Given the description of an element on the screen output the (x, y) to click on. 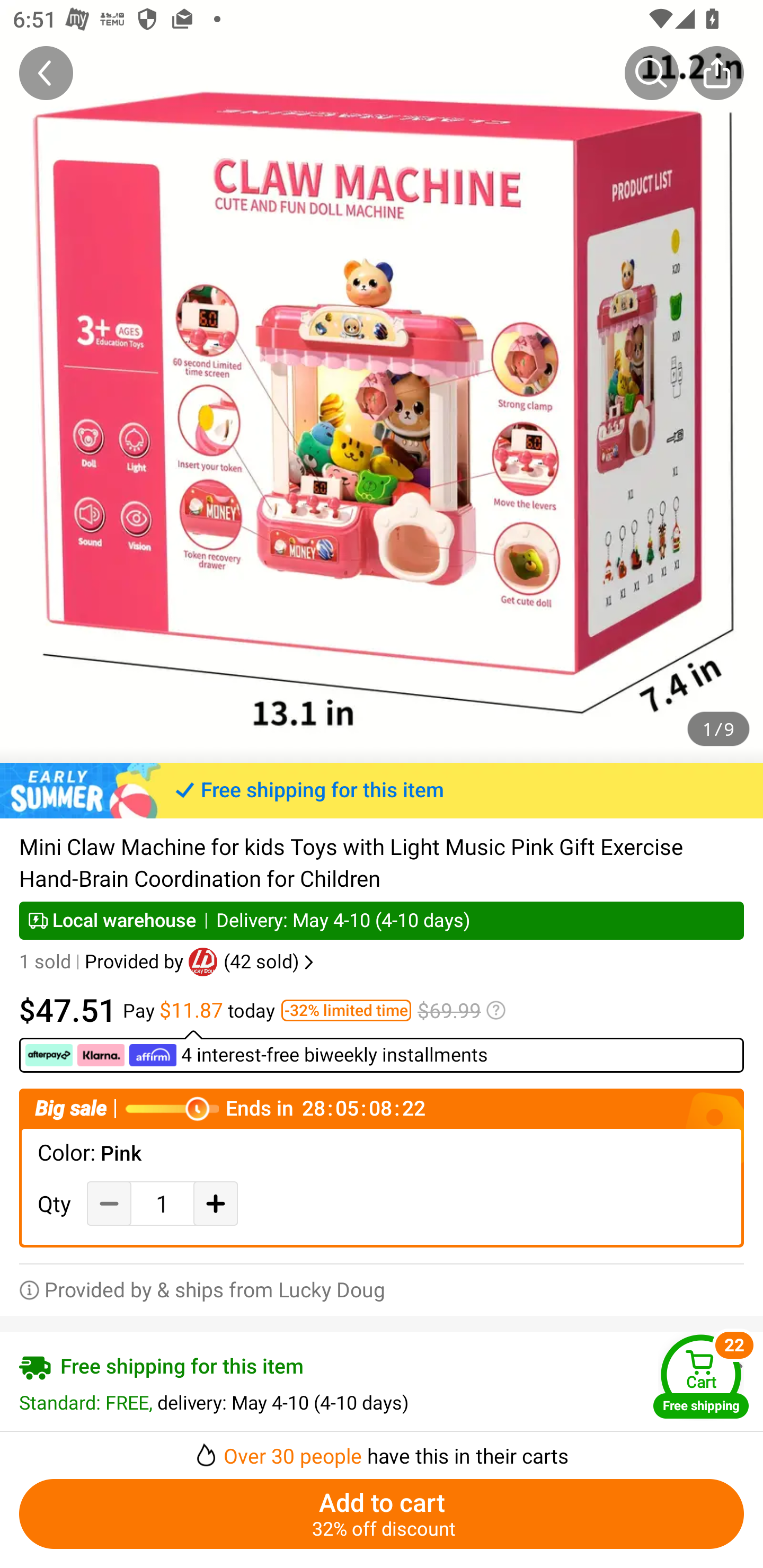
Back (46, 72)
Share (716, 72)
Free shipping for this item (381, 790)
Local warehouse Delivery: May 4-10 (4-10 days) (381, 920)
1 sold Provided by  (103, 961)
￼ ￼ ￼ 4 interest-free biweekly installments (381, 1051)
Big sale Ends in￼￼ (381, 1108)
Decrease Quantity Button (108, 1203)
Add Quantity button (215, 1203)
1 (162, 1204)
Cart Free shipping Cart (701, 1375)
￼￼Over 30 people have this in their carts (381, 1450)
Add to cart  32% off discount (381, 1513)
